Given the description of an element on the screen output the (x, y) to click on. 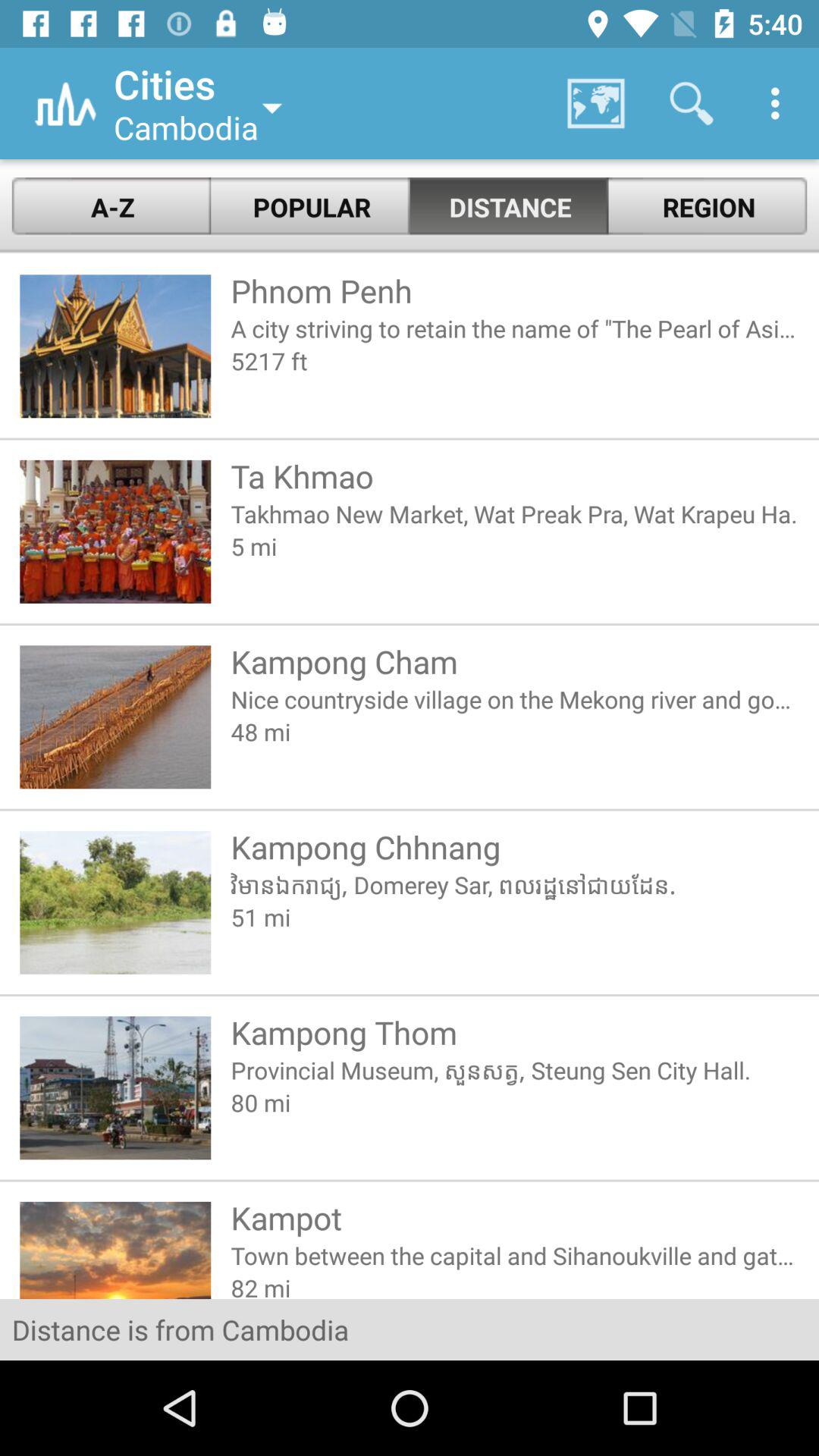
launch item above the kampong thom item (514, 916)
